Given the description of an element on the screen output the (x, y) to click on. 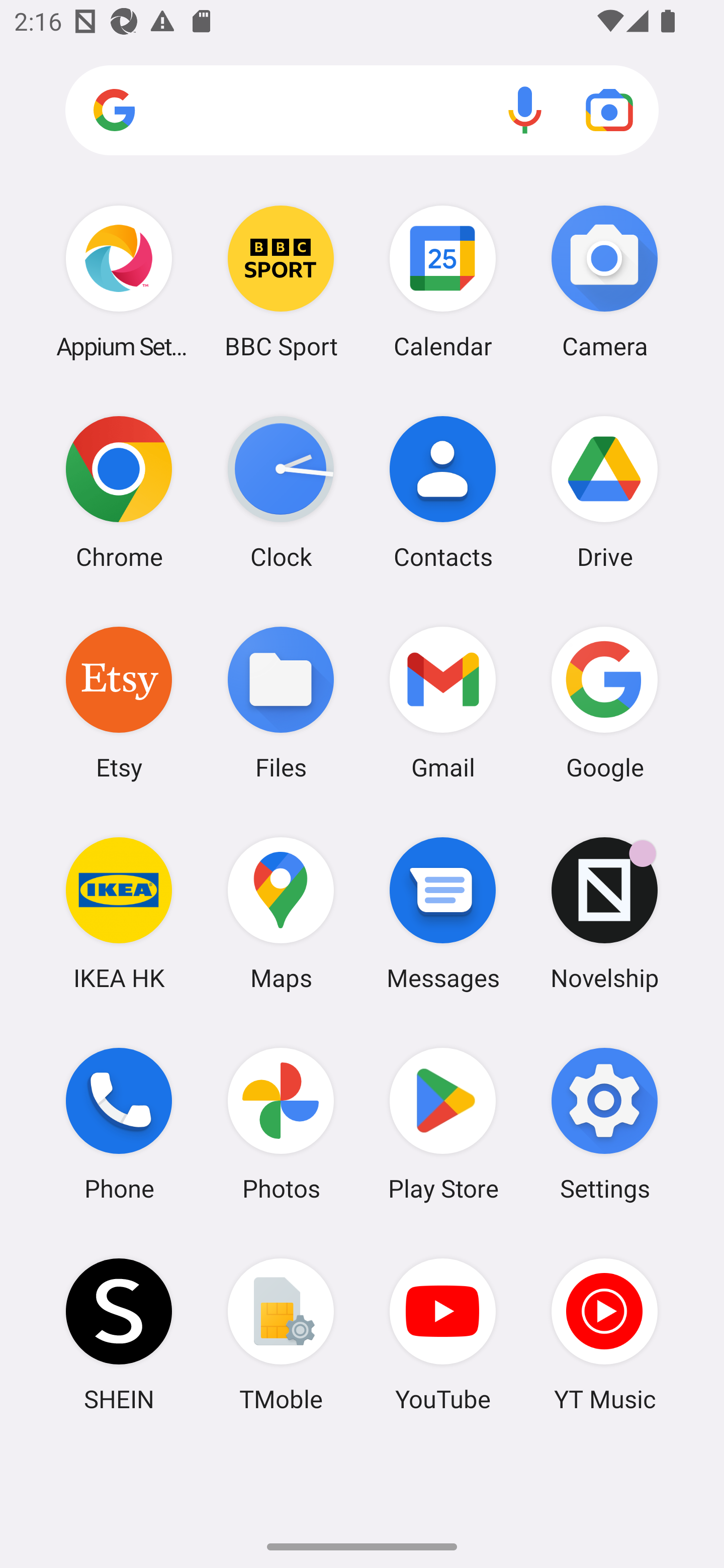
Search apps, web and more (361, 110)
Voice search (524, 109)
Google Lens (608, 109)
Appium Settings (118, 281)
BBC Sport (280, 281)
Calendar (443, 281)
Camera (604, 281)
Chrome (118, 492)
Clock (280, 492)
Contacts (443, 492)
Drive (604, 492)
Etsy (118, 702)
Files (280, 702)
Gmail (443, 702)
Google (604, 702)
IKEA HK (118, 913)
Maps (280, 913)
Messages (443, 913)
Novelship Novelship has 9 notifications (604, 913)
Phone (118, 1124)
Photos (280, 1124)
Play Store (443, 1124)
Settings (604, 1124)
SHEIN (118, 1334)
TMoble (280, 1334)
YouTube (443, 1334)
YT Music (604, 1334)
